Given the description of an element on the screen output the (x, y) to click on. 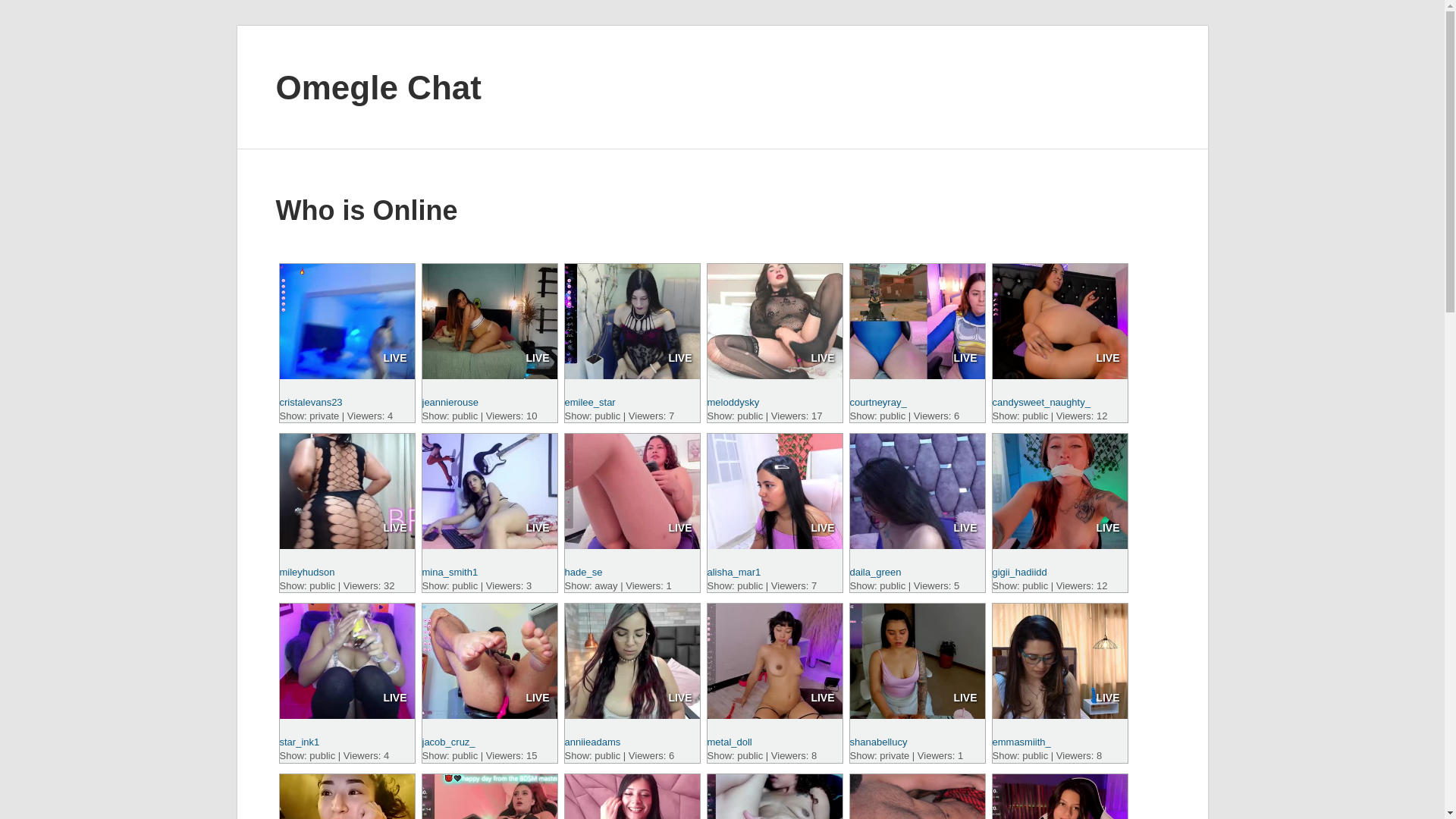
LIVE (394, 527)
LIVE (822, 357)
jeannierouse (449, 401)
LIVE (1107, 527)
LIVE (536, 527)
LIVE (679, 527)
meloddysky (732, 401)
LIVE (1107, 357)
LIVE (536, 357)
LIVE (394, 697)
LIVE (394, 357)
Omegle Chat (378, 86)
mileyhudson (306, 572)
LIVE (822, 527)
